Given the description of an element on the screen output the (x, y) to click on. 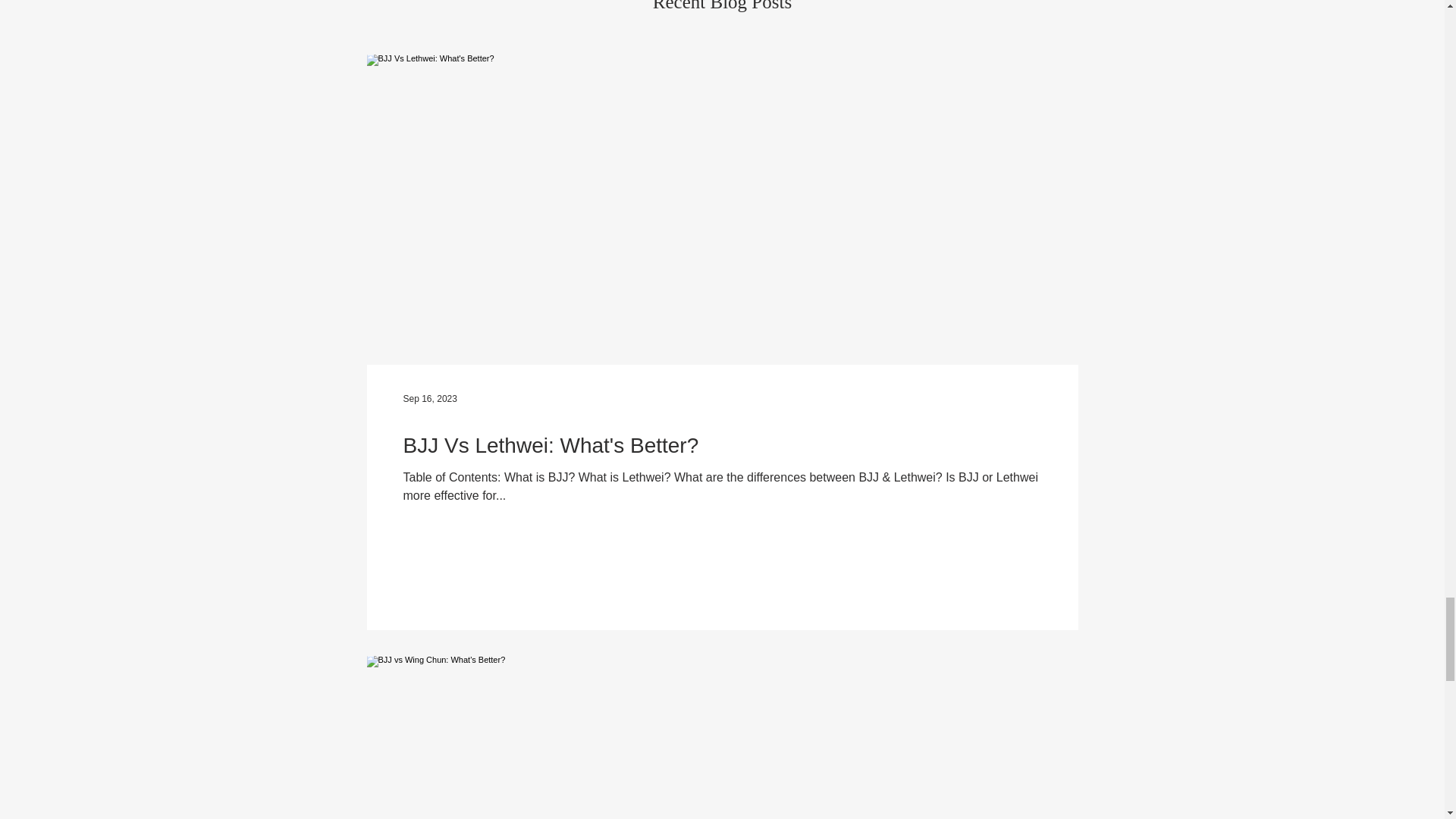
Sep 16, 2023 (430, 398)
